Given the description of an element on the screen output the (x, y) to click on. 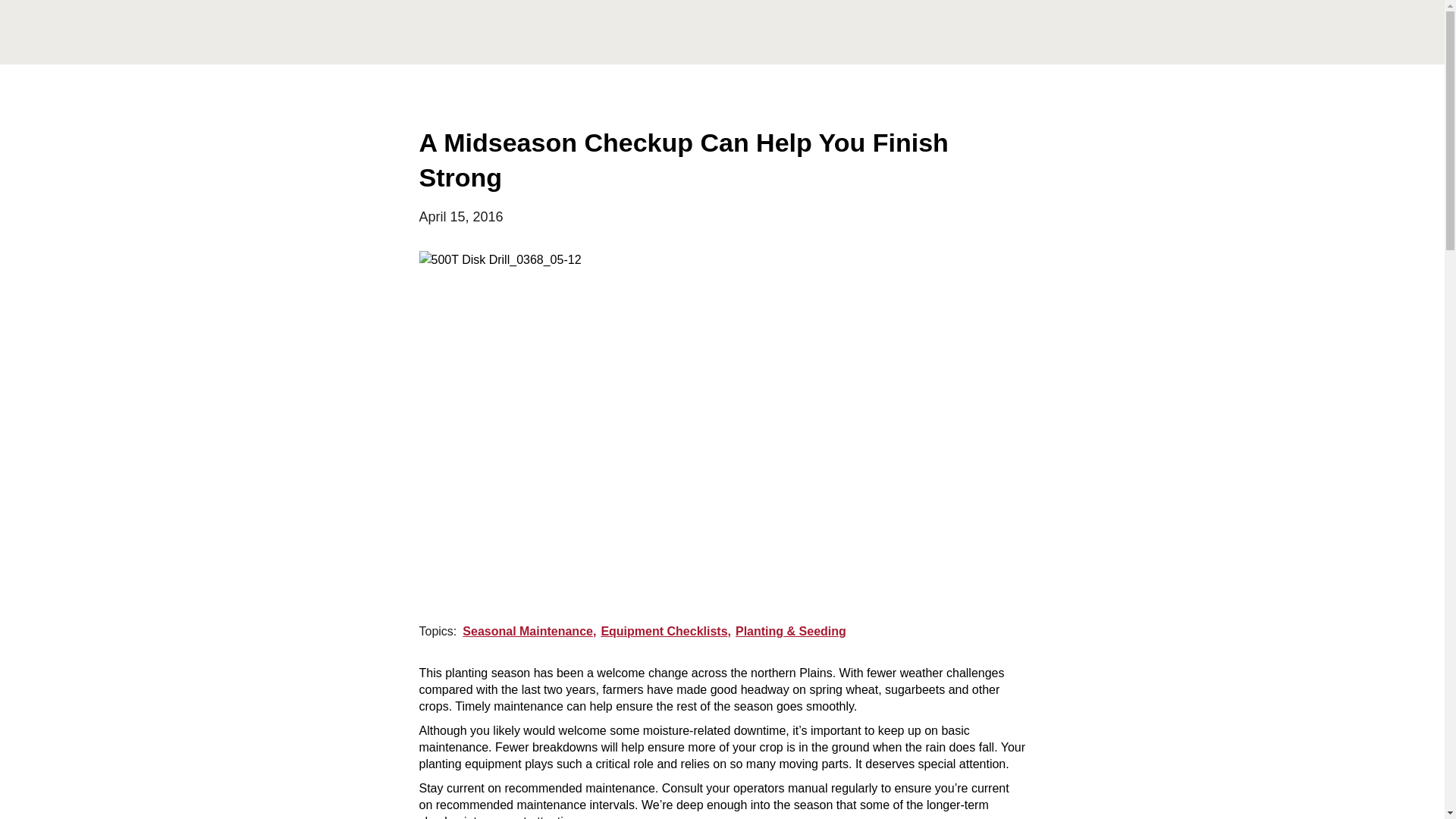
Equipment Checklists (667, 631)
Seasonal Maintenance (531, 631)
